Given the description of an element on the screen output the (x, y) to click on. 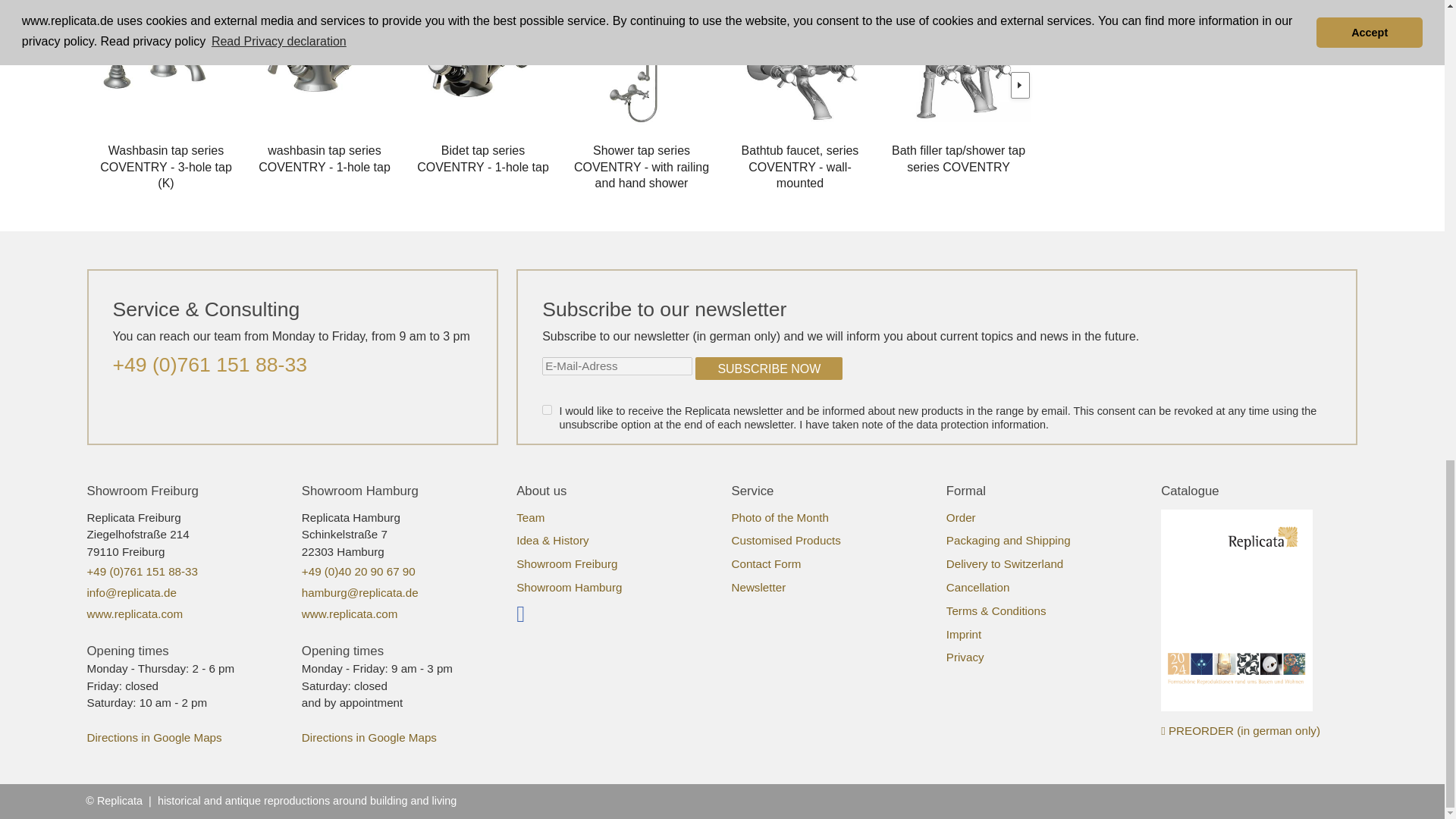
Bidet tap series COVENTRY - 1-hole tap (482, 65)
Shower tap series COVENTRY - with railing and hand shower (641, 65)
washbasin tap series COVENTRY - 1-hole tap (324, 152)
washbasin tap series COVENTRY - 1-hole tap (324, 65)
on (546, 409)
Subscribe now (769, 368)
Bidet tap series COVENTRY - 1-hole tap (482, 152)
